Given the description of an element on the screen output the (x, y) to click on. 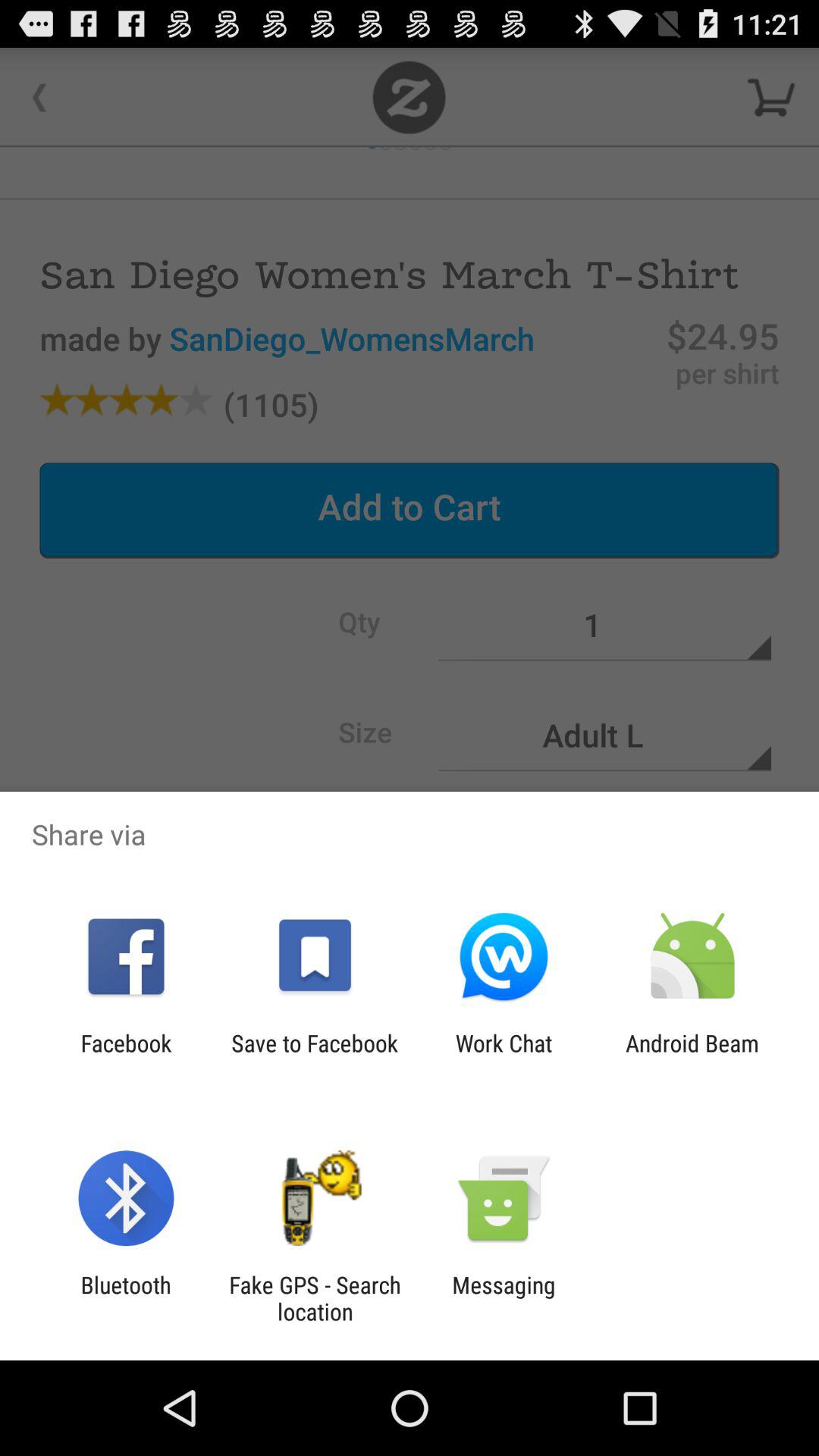
scroll to the work chat icon (503, 1056)
